Given the description of an element on the screen output the (x, y) to click on. 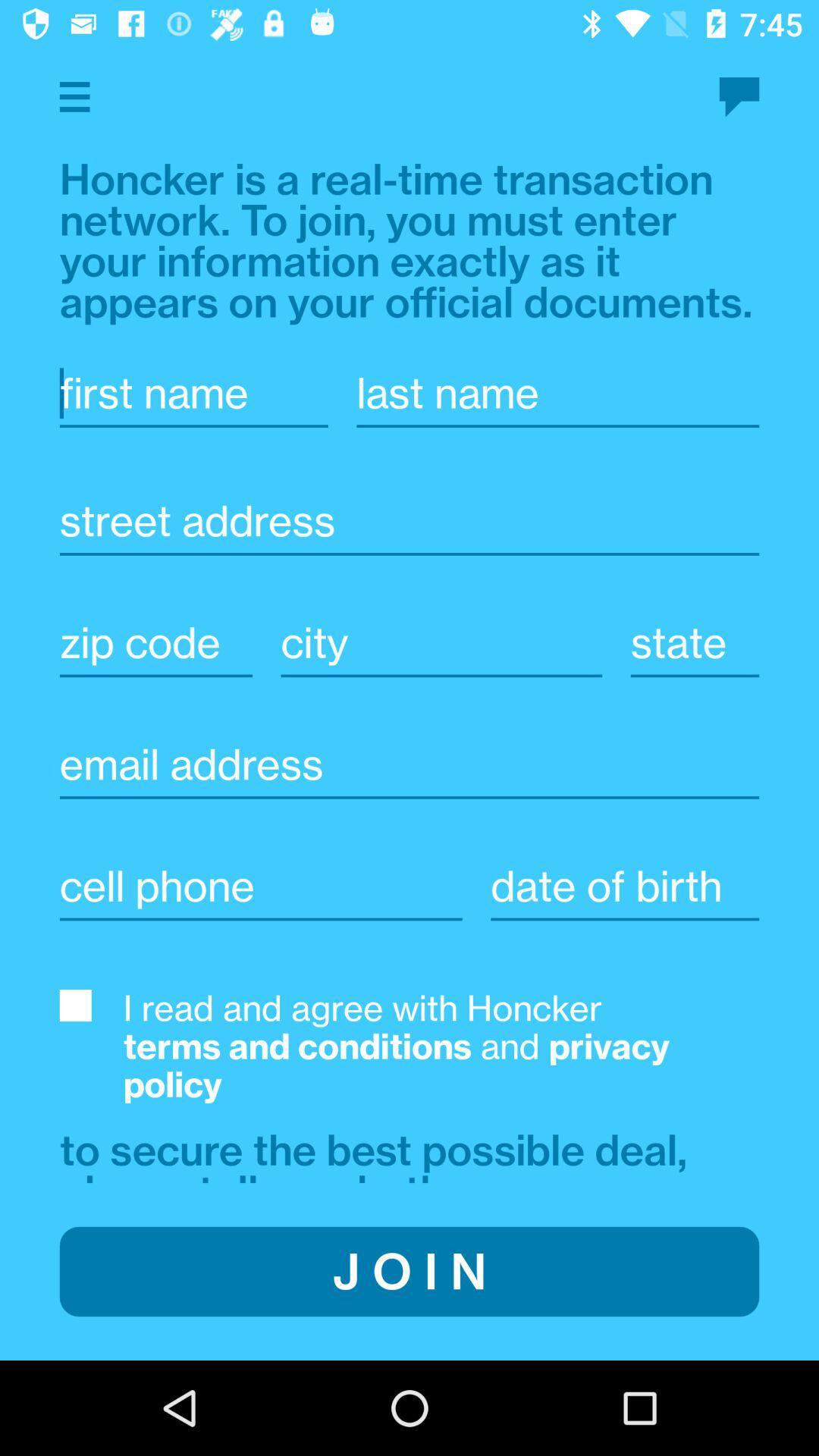
enter cell phone number (260, 886)
